Given the description of an element on the screen output the (x, y) to click on. 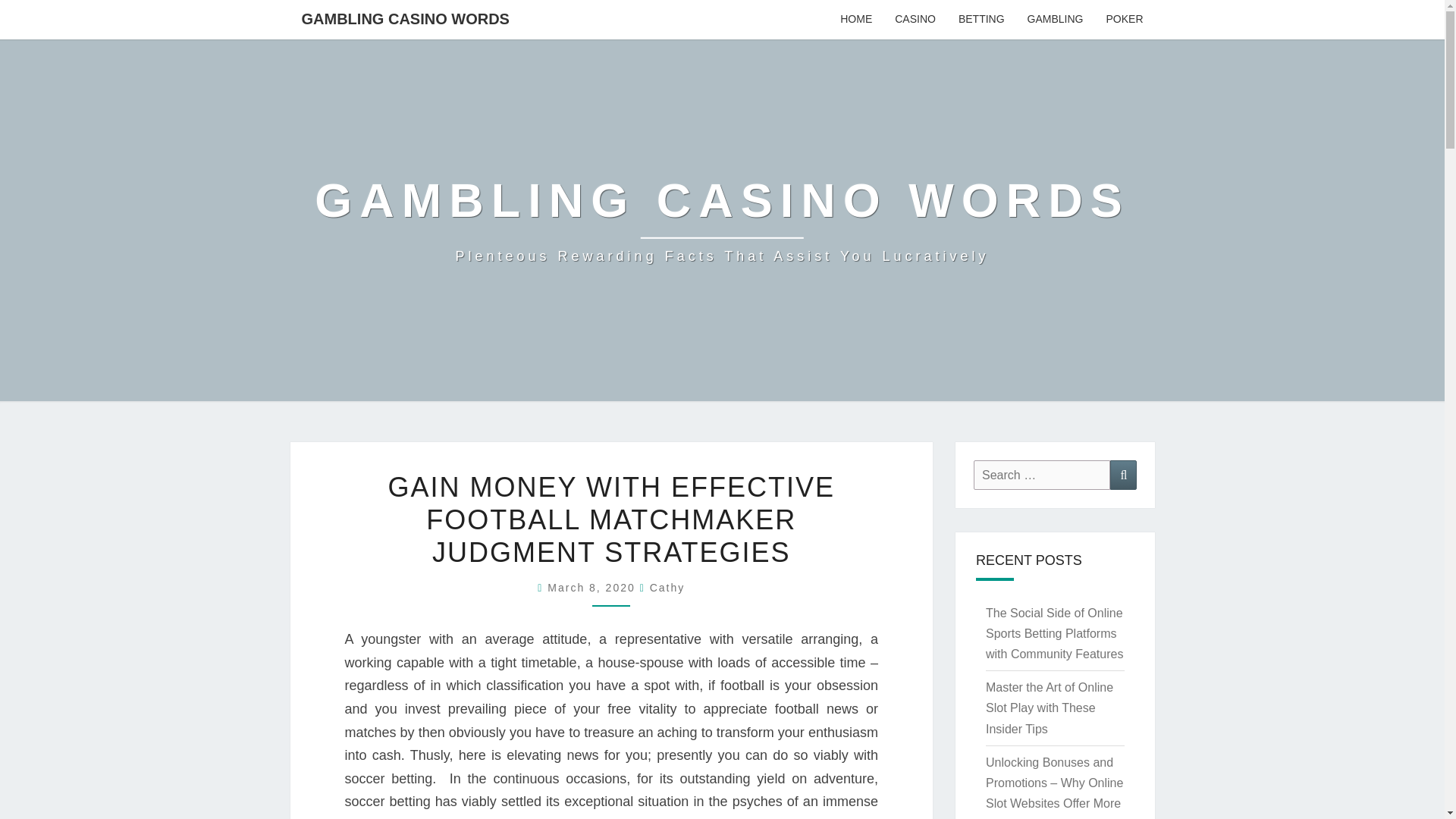
March 8, 2020 (593, 587)
GAMBLING CASINO WORDS (404, 18)
View all posts by Cathy (667, 587)
GAMBLING (1055, 19)
Search for: (1041, 474)
Cathy (667, 587)
HOME (855, 19)
Gambling casino words (721, 219)
11:40 am (593, 587)
BETTING (981, 19)
CASINO (915, 19)
Master the Art of Online Slot Play with These Insider Tips (1049, 707)
Search (1123, 474)
